Given the description of an element on the screen output the (x, y) to click on. 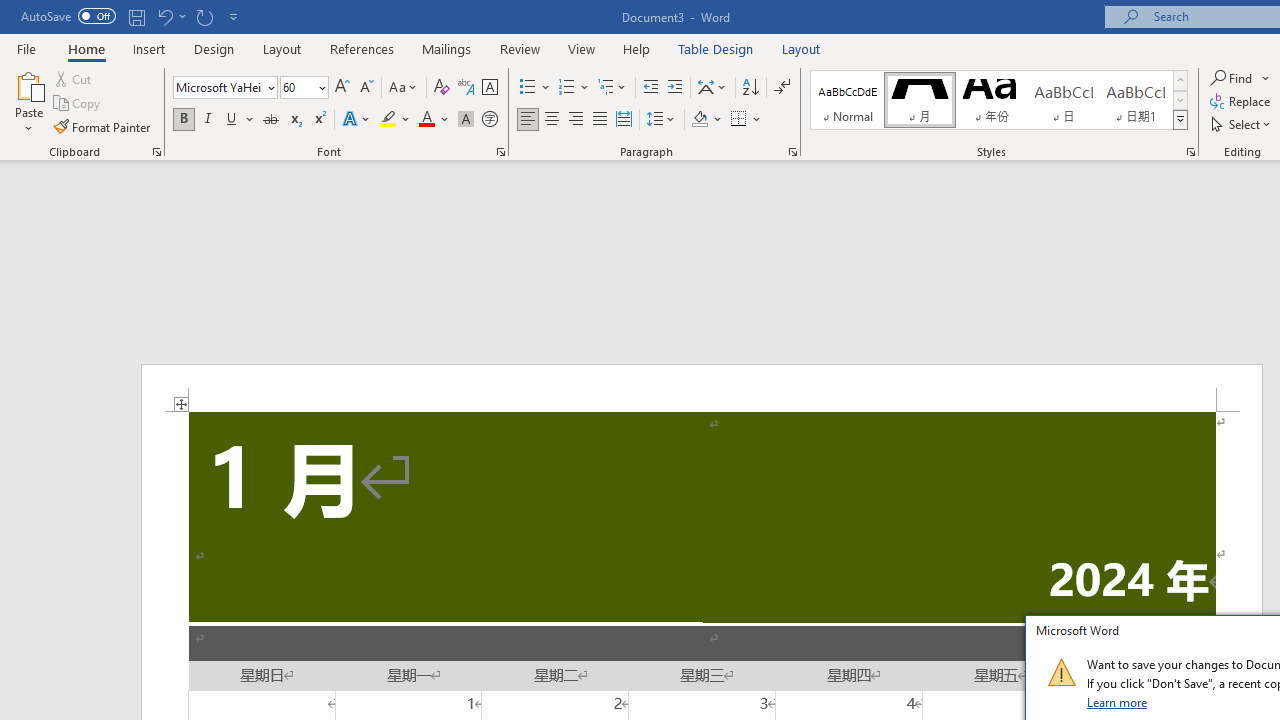
Clear Formatting (442, 87)
Font Size (304, 87)
Styles... (1190, 151)
Header -Section 1- (701, 387)
AutoSave (68, 16)
Replace... (1242, 101)
Text Highlight Color Yellow (388, 119)
Styles (1179, 120)
Center (552, 119)
Row up (1179, 79)
Copy (78, 103)
Decrease Indent (650, 87)
Review (520, 48)
Justify (599, 119)
